Given the description of an element on the screen output the (x, y) to click on. 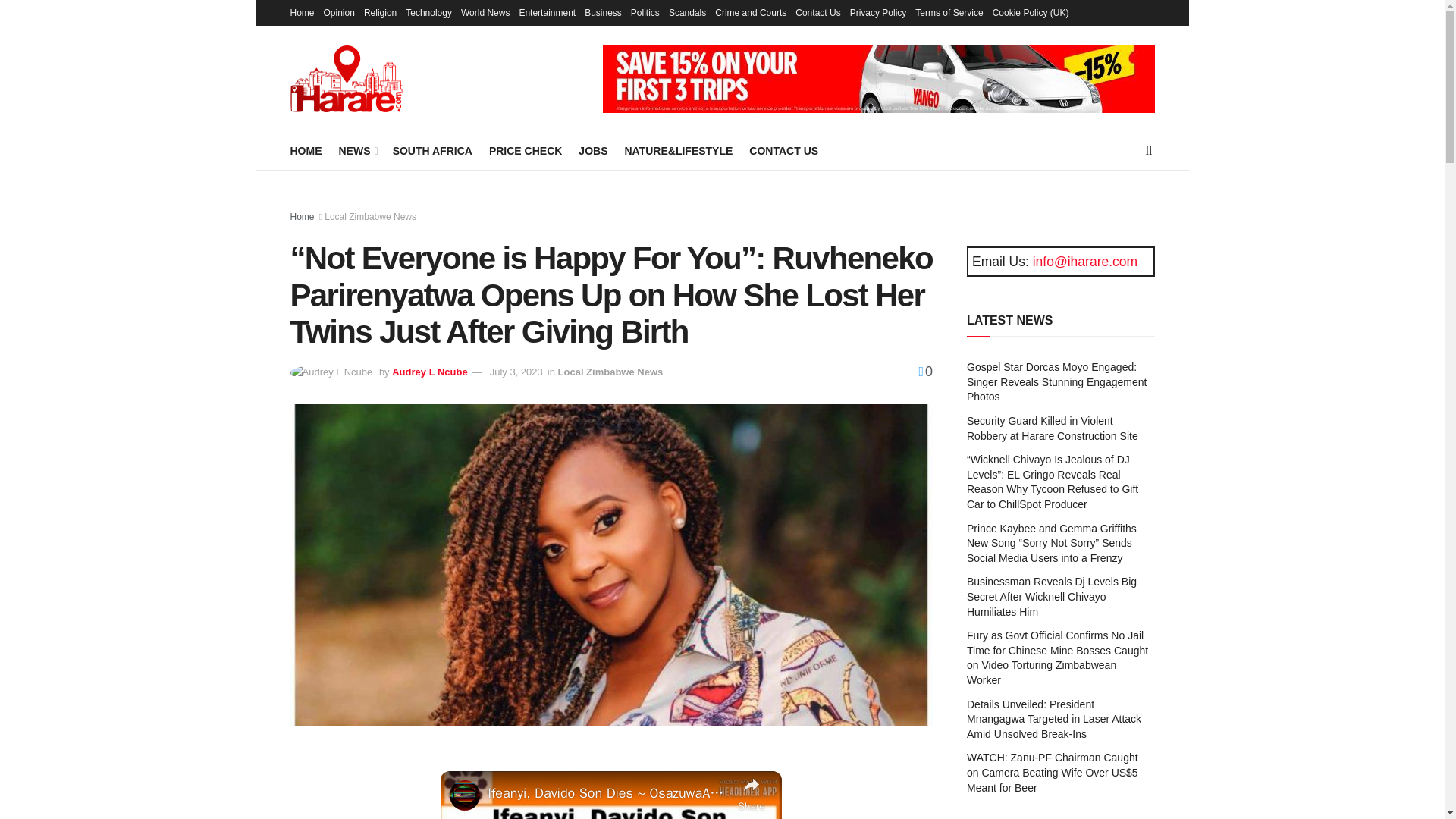
Home (301, 12)
Privacy Policy (878, 12)
NEWS (356, 150)
share (751, 792)
PRICE CHECK (525, 150)
Technology (428, 12)
CONTACT US (783, 150)
Religion (380, 12)
JOBS (592, 150)
Crime and Courts (750, 12)
Politics (644, 12)
SOUTH AFRICA (432, 150)
Scandals (687, 12)
Business (603, 12)
Entertainment (546, 12)
